Given the description of an element on the screen output the (x, y) to click on. 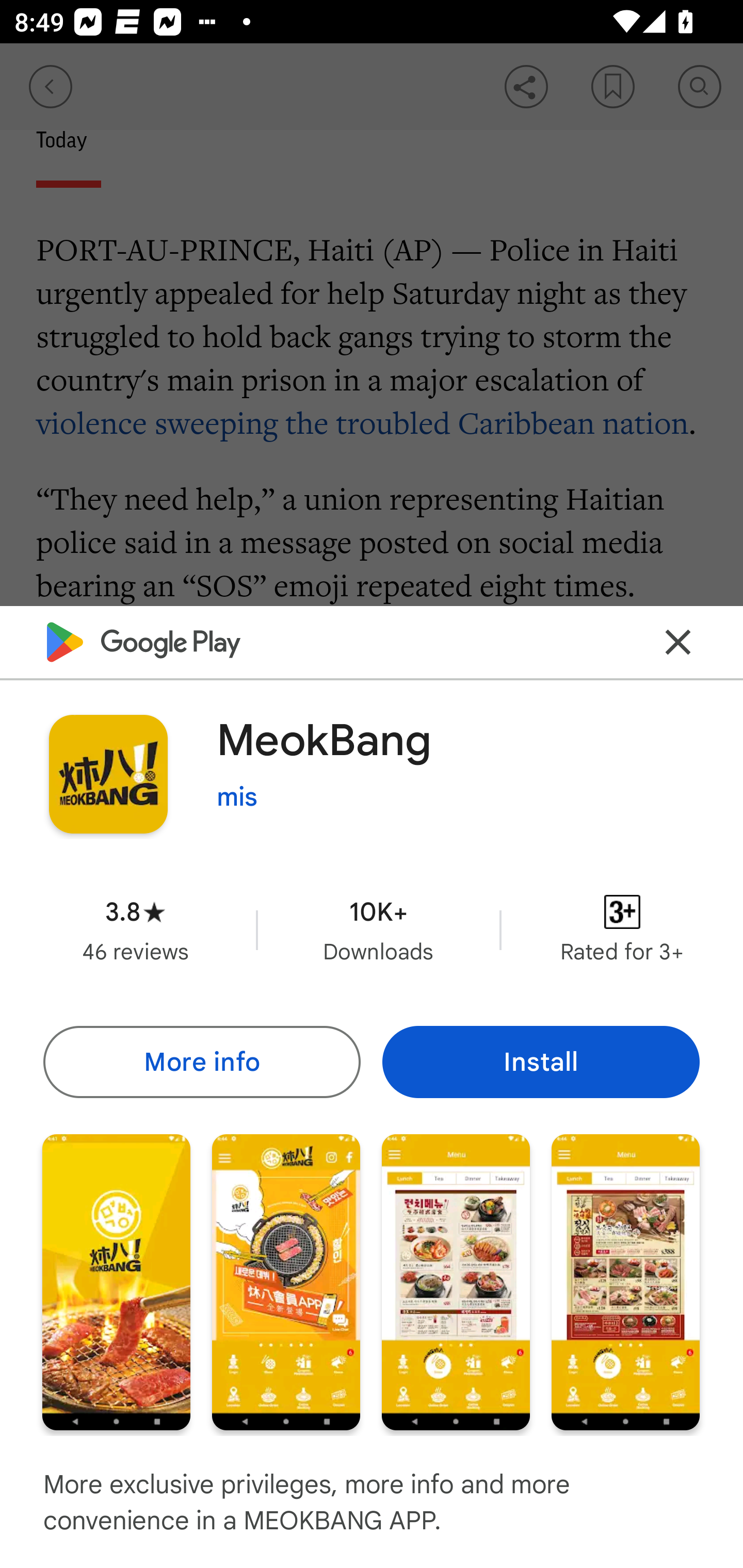
Close (677, 642)
Image of app or game icon for MeokBang (108, 773)
mis (236, 796)
More info (201, 1061)
Install (540, 1061)
Screenshot "1" of "4" (116, 1281)
Screenshot "2" of "4" (285, 1281)
Screenshot "3" of "4" (455, 1281)
Screenshot "4" of "4" (625, 1281)
